Given the description of an element on the screen output the (x, y) to click on. 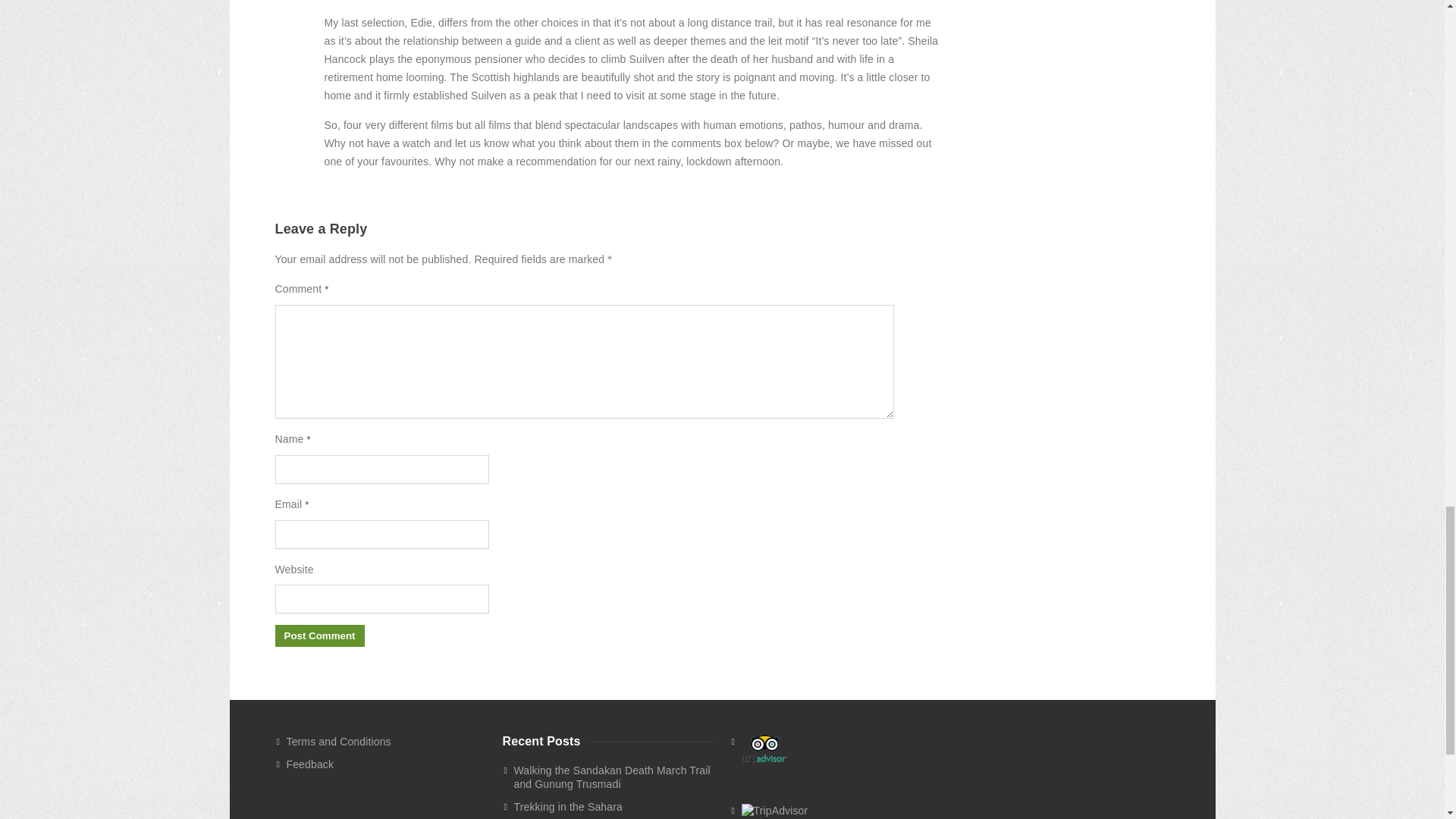
Post Comment (319, 635)
Trekking in the Sahara (613, 806)
Feedback (386, 764)
Walking the Sandakan Death March Trail and Gunung Trusmadi (613, 777)
Terms and Conditions (386, 741)
Post Comment (319, 635)
